Given the description of an element on the screen output the (x, y) to click on. 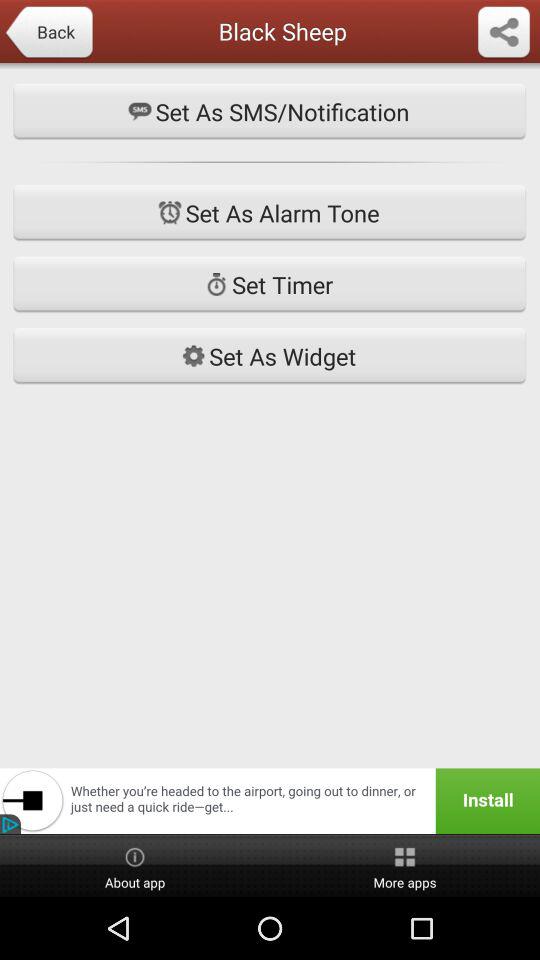
menu (503, 33)
